Given the description of an element on the screen output the (x, y) to click on. 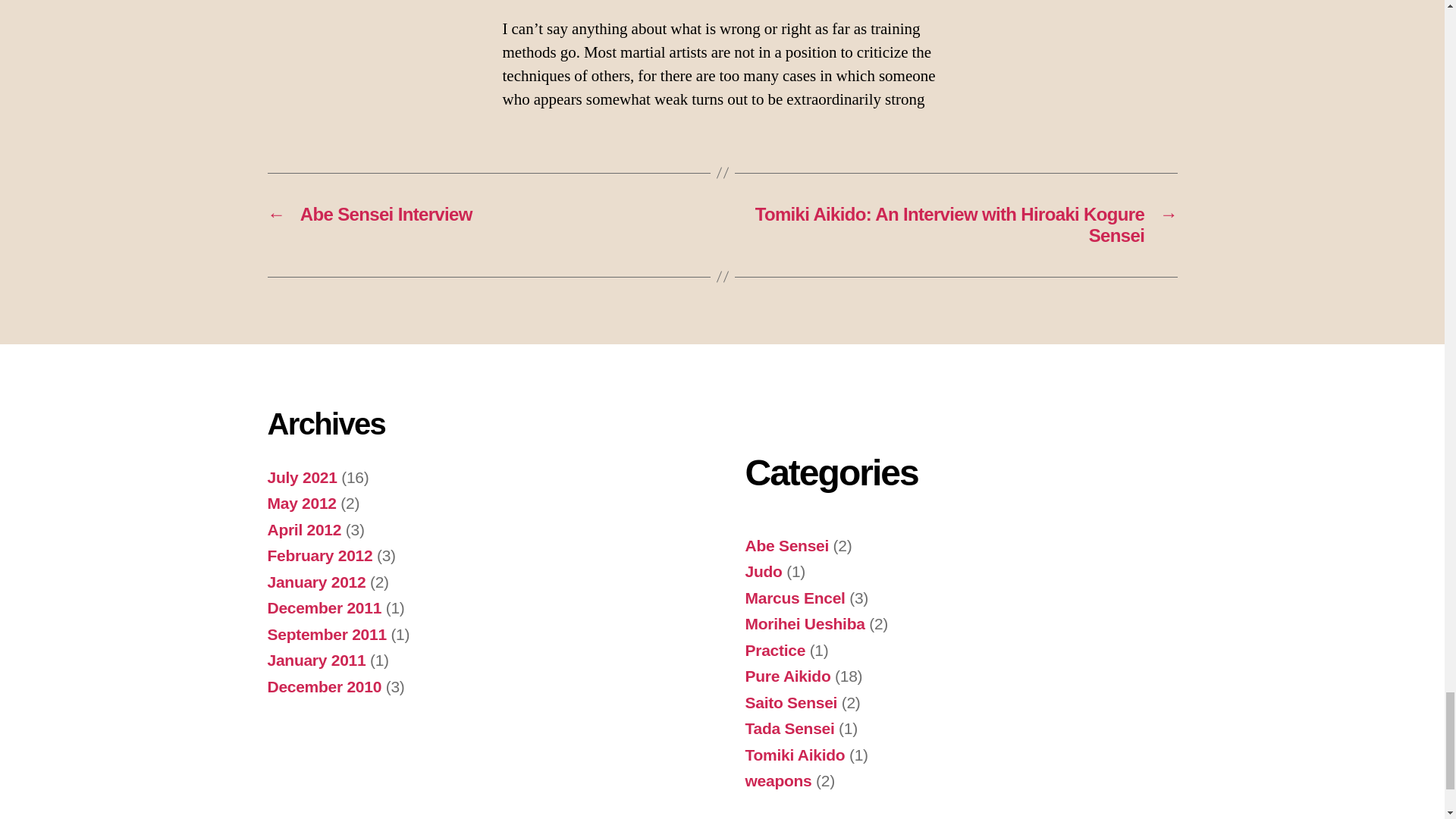
February 2012 (319, 555)
January 2011 (315, 660)
Judo (762, 570)
Marcus Encel (794, 597)
July 2021 (301, 477)
Morihei Ueshiba (804, 623)
May 2012 (301, 502)
December 2011 (323, 607)
Saito Sensei (790, 702)
Practice (774, 650)
January 2012 (315, 581)
Tomiki Aikido (794, 754)
April 2012 (303, 529)
weapons (777, 780)
September 2011 (325, 633)
